Given the description of an element on the screen output the (x, y) to click on. 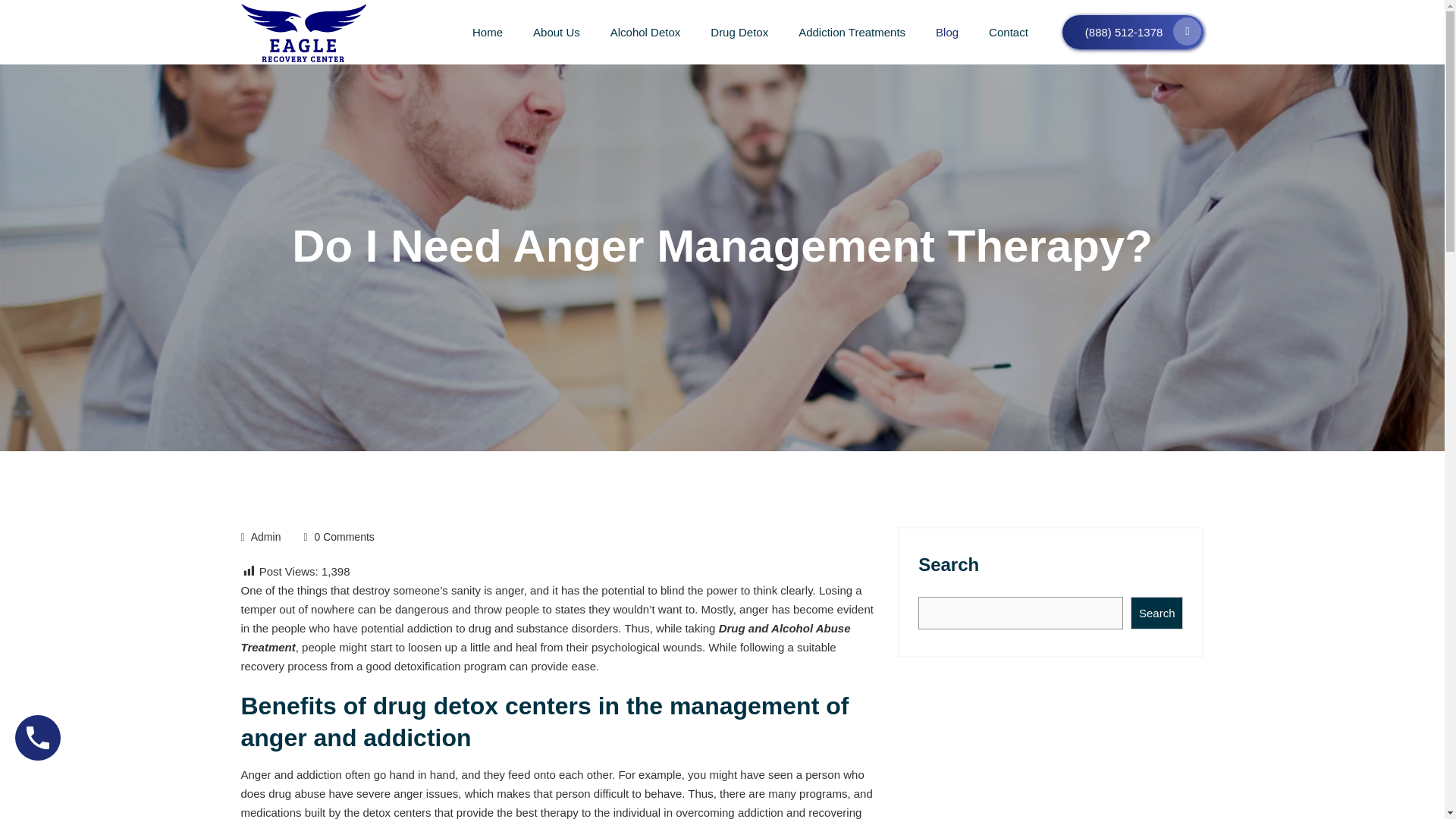
Search (1157, 613)
Alcohol Detox (645, 32)
Drug Detox (739, 32)
Admin (265, 536)
Drug Detox (739, 32)
Addiction Treatments (851, 32)
Addiction Treatments (851, 32)
Alcohol Detox (645, 32)
